Given the description of an element on the screen output the (x, y) to click on. 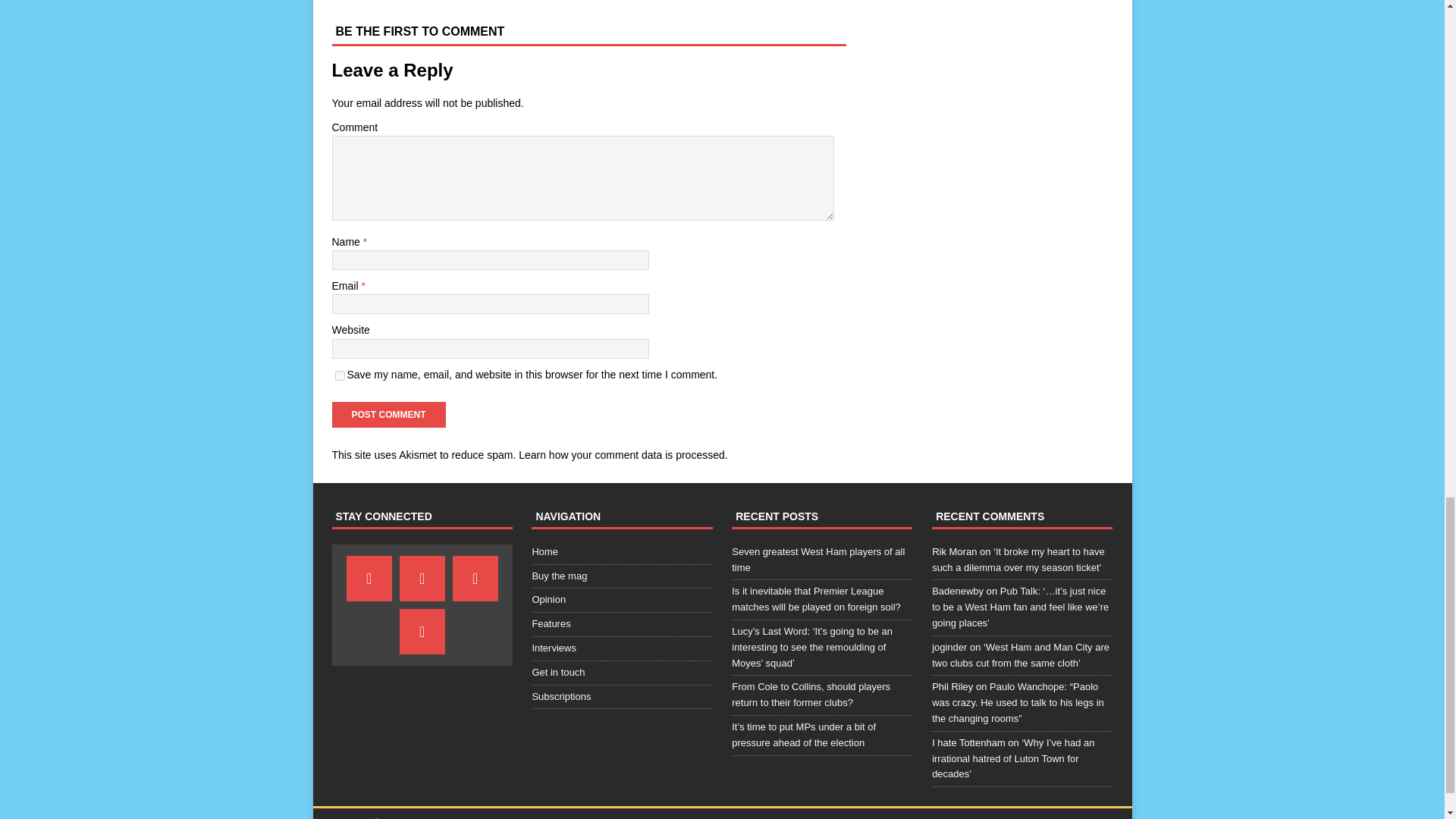
yes (339, 375)
Post Comment (388, 414)
